Given the description of an element on the screen output the (x, y) to click on. 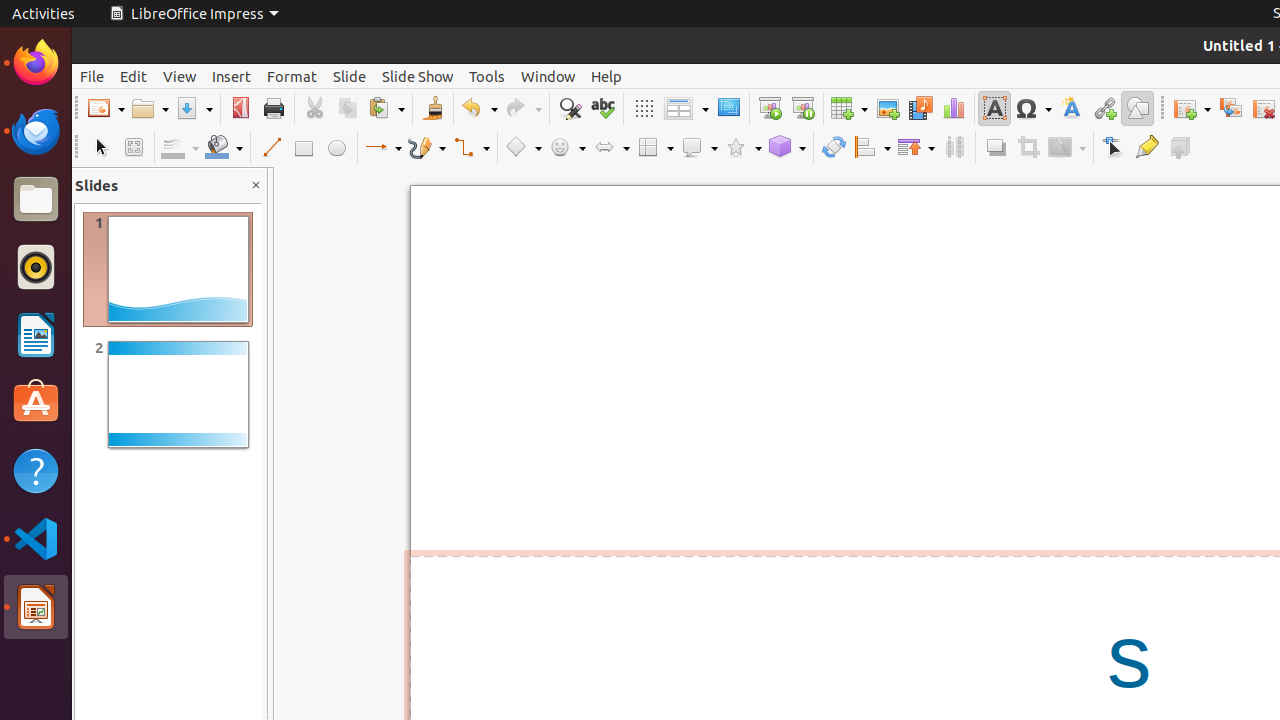
PDF Element type: push-button (240, 108)
Connectors Element type: push-button (471, 147)
